Given the description of an element on the screen output the (x, y) to click on. 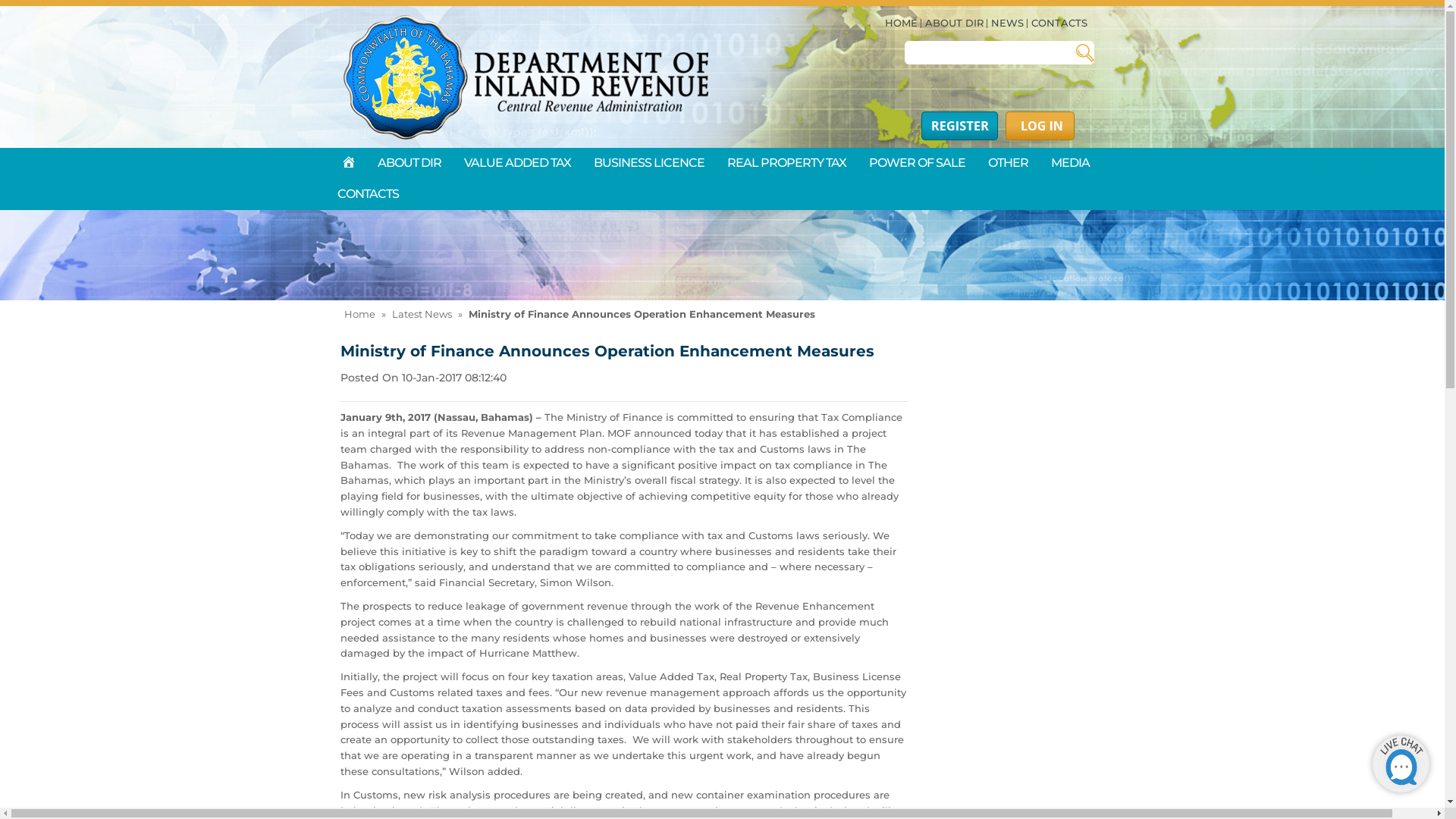
HOME Element type: text (346, 162)
NEWS Element type: text (1007, 23)
ABOUT DIR Element type: text (409, 162)
CONTACTS Element type: text (368, 194)
POWER OF SALE Element type: text (916, 162)
VALUE ADDED TAX Element type: text (517, 162)
HOME Element type: text (901, 23)
ABOUT DIR Element type: text (954, 23)
OTHER Element type: text (1007, 162)
REAL PROPERTY TAX Element type: text (786, 162)
MEDIA Element type: text (1070, 162)
Home Element type: text (359, 313)
Latest News Element type: text (421, 313)
BUSINESS LICENCE Element type: text (648, 162)
CONTACTS Element type: text (1059, 23)
